Given the description of an element on the screen output the (x, y) to click on. 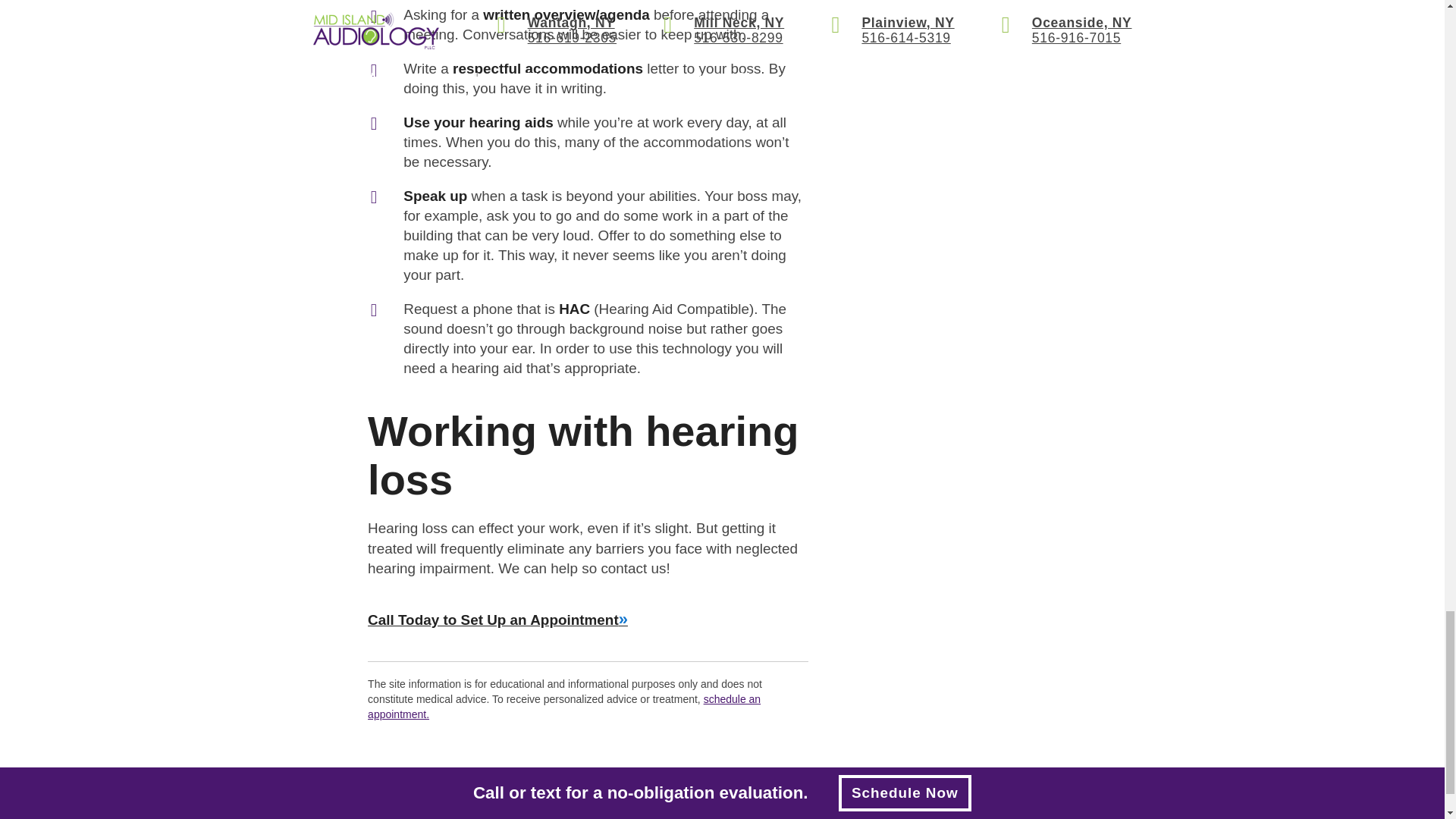
MedPB: Medical Practice Building, Marketing, Websites (459, 808)
